Given the description of an element on the screen output the (x, y) to click on. 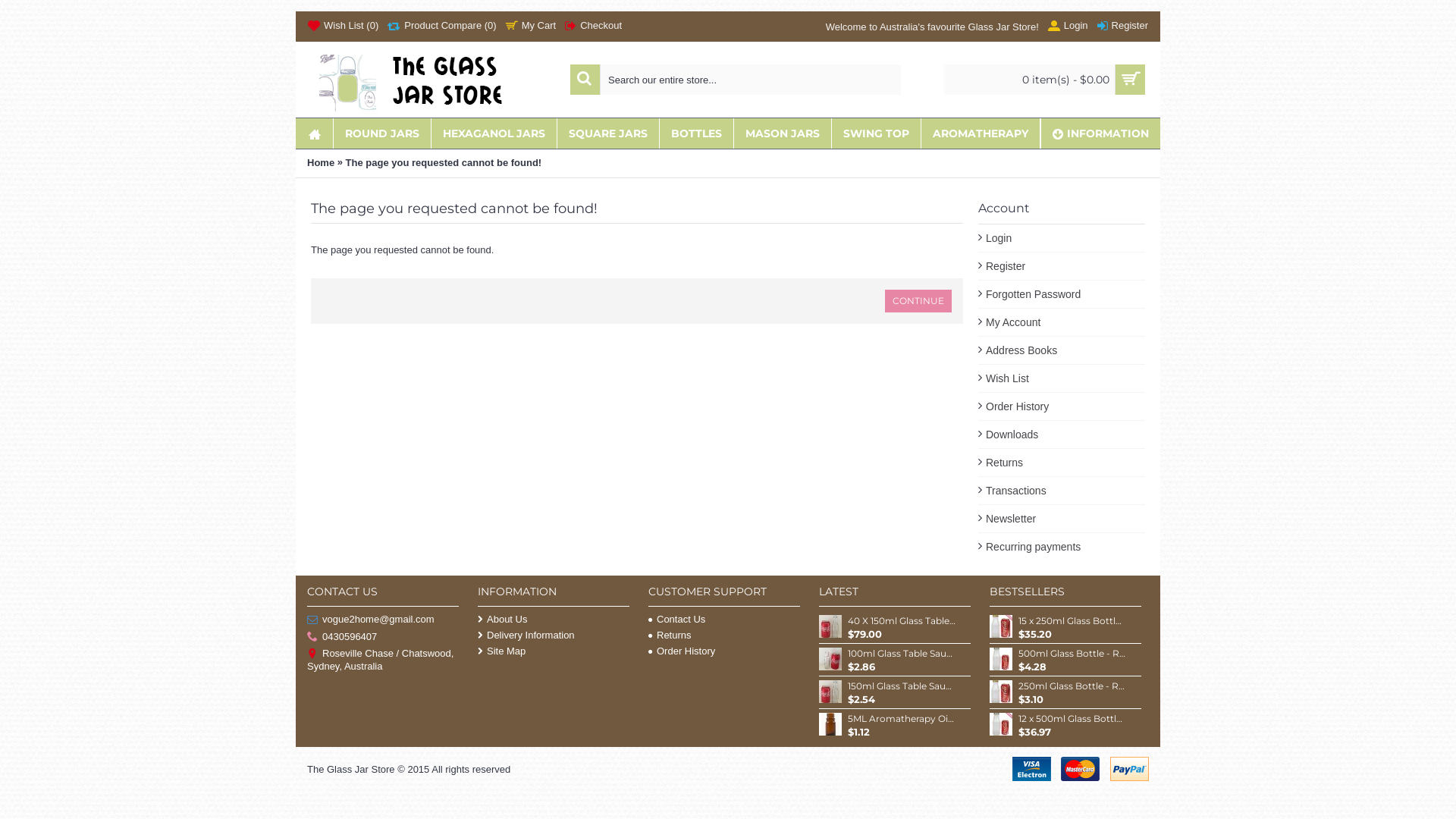
12 x 500ml Glass Bottle - Round  Element type: hover (1000, 723)
Login Element type: text (1061, 238)
Recurring payments Element type: text (1061, 546)
Forgotten Password Element type: text (1061, 294)
ROUND JARS Element type: text (381, 133)
100ml Glass Table Sauce Olive Oil Bottle Dorica - Round  Element type: hover (830, 658)
15 x 250ml Glass Bottle - Round Element type: text (1072, 620)
150ml Glass Table Sauce Bottle - Round Element type: text (901, 686)
HEXAGANOL JARS Element type: text (493, 133)
Glass Jar Store Element type: hover (425, 79)
SWING TOP Element type: text (875, 133)
500ml Glass Bottle - Round  Element type: hover (1000, 658)
Register Element type: text (1122, 26)
5ML Aromatherapy Oil Bottle - Round Element type: hover (830, 723)
500ml Glass Bottle - Round Element type: text (1072, 653)
BOTTLES Element type: text (696, 133)
Register Element type: text (1061, 266)
SQUARE JARS Element type: text (607, 133)
40 X 150ml Glass Table Sauce Bottle - Round (Bulk Price) Element type: text (901, 620)
250ml Glass Bottle - Round  Element type: hover (1000, 691)
Transactions Element type: text (1061, 490)
Product Compare (0) Element type: text (441, 26)
Returns Element type: text (724, 634)
Address Books Element type: text (1061, 350)
CONTINUE Element type: text (917, 300)
Checkout Element type: text (593, 26)
The page you requested cannot be found! Element type: text (443, 162)
Newsletter Element type: text (1061, 519)
15 x 250ml Glass Bottle - Round  Element type: hover (1000, 626)
12 x 500ml Glass Bottle - Round Element type: text (1072, 718)
Contact Us Element type: text (724, 618)
INFORMATION Element type: text (1100, 133)
Delivery Information Element type: text (553, 634)
Downloads Element type: text (1061, 434)
40 X 150ml Glass Table Sauce Bottle - Round (Bulk Price) Element type: hover (830, 626)
Order History Element type: text (1061, 406)
Wish List (0) Element type: text (342, 26)
0 item(s) - $0.00 Element type: text (1044, 79)
0430596407 Element type: text (382, 636)
Home Element type: text (320, 162)
My Account Element type: text (1061, 322)
250ml Glass Bottle - Round Element type: text (1072, 686)
Login Element type: text (1067, 26)
Wish List Element type: text (1061, 378)
AROMATHERAPY Element type: text (980, 133)
100ml Glass Table Sauce Olive Oil Bottle Dorica - Round Element type: text (901, 653)
Order History Element type: text (724, 650)
150ml Glass Table Sauce Bottle - Round  Element type: hover (830, 691)
MASON JARS Element type: text (782, 133)
Returns Element type: text (1061, 462)
5ML Aromatherapy Oil Bottle - Round Element type: text (901, 718)
My Cart Element type: text (531, 26)
Site Map Element type: text (553, 650)
About Us Element type: text (553, 618)
